Given the description of an element on the screen output the (x, y) to click on. 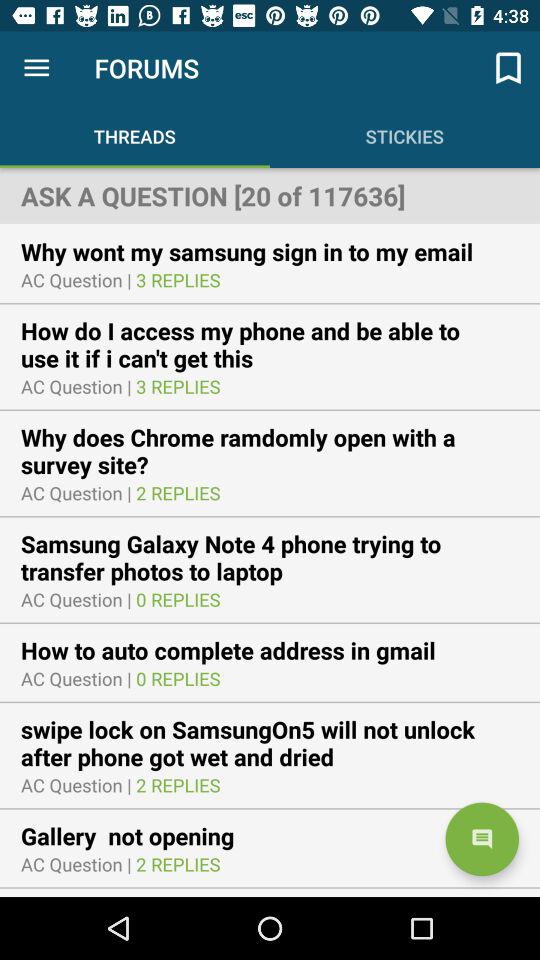
flip until ask a question item (270, 195)
